Given the description of an element on the screen output the (x, y) to click on. 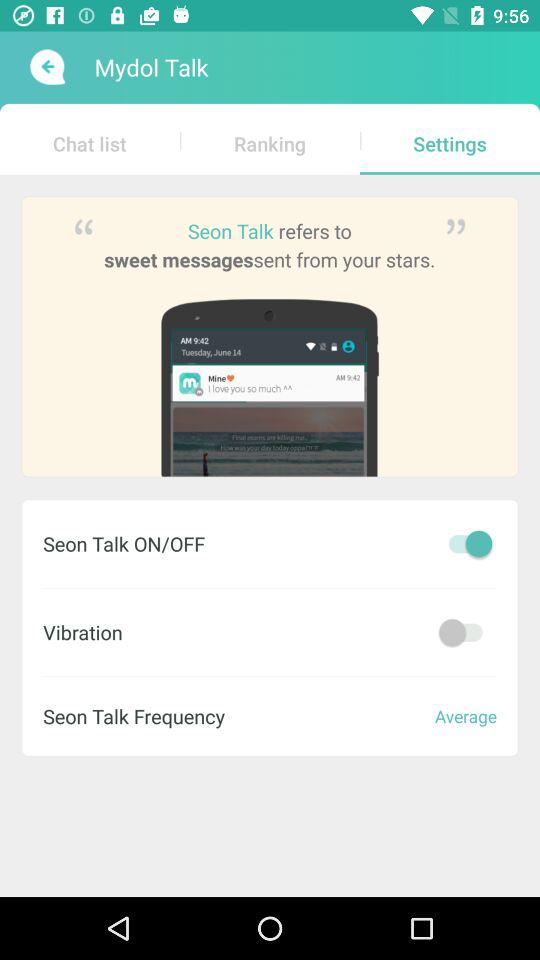
go back (45, 67)
